Given the description of an element on the screen output the (x, y) to click on. 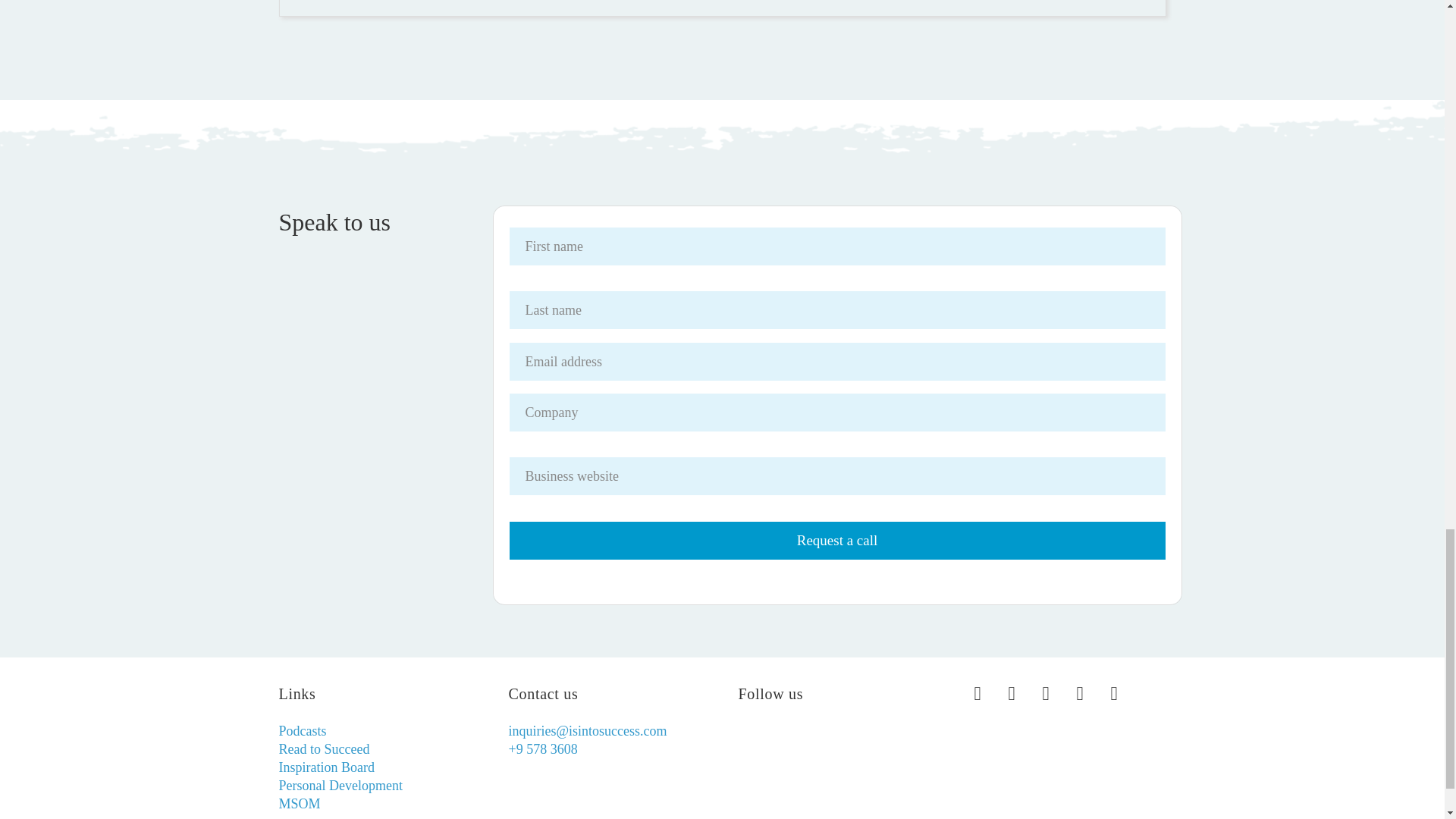
Request a call (837, 540)
Podcasts (302, 730)
Personal Development (341, 785)
Read to Succeed (324, 749)
MSOM (299, 803)
Inspiration Board (326, 767)
Request a call (837, 540)
